Given the description of an element on the screen output the (x, y) to click on. 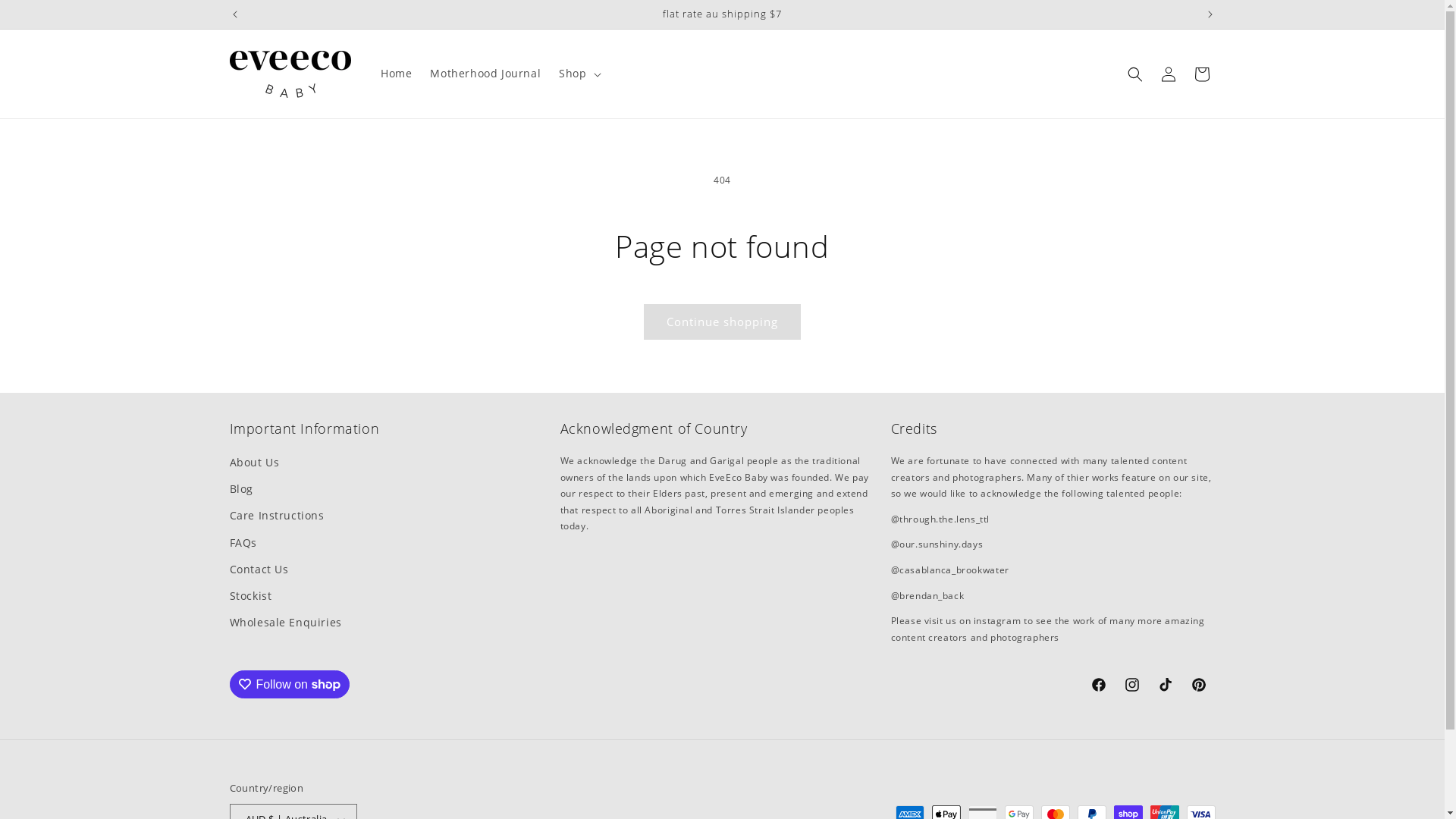
Care Instructions Element type: text (276, 515)
Continue shopping Element type: text (721, 321)
Blog Element type: text (240, 488)
About Us Element type: text (254, 463)
Wholesale Enquiries Element type: text (285, 621)
Contact Us Element type: text (258, 568)
Cart Element type: text (1200, 74)
Stockist Element type: text (250, 595)
Log in Element type: text (1167, 74)
Instagram Element type: text (1131, 684)
Pinterest Element type: text (1197, 684)
FAQs Element type: text (242, 542)
Motherhood Journal Element type: text (484, 73)
Facebook Element type: text (1097, 684)
TikTok Element type: text (1164, 684)
Home Element type: text (395, 73)
